Given the description of an element on the screen output the (x, y) to click on. 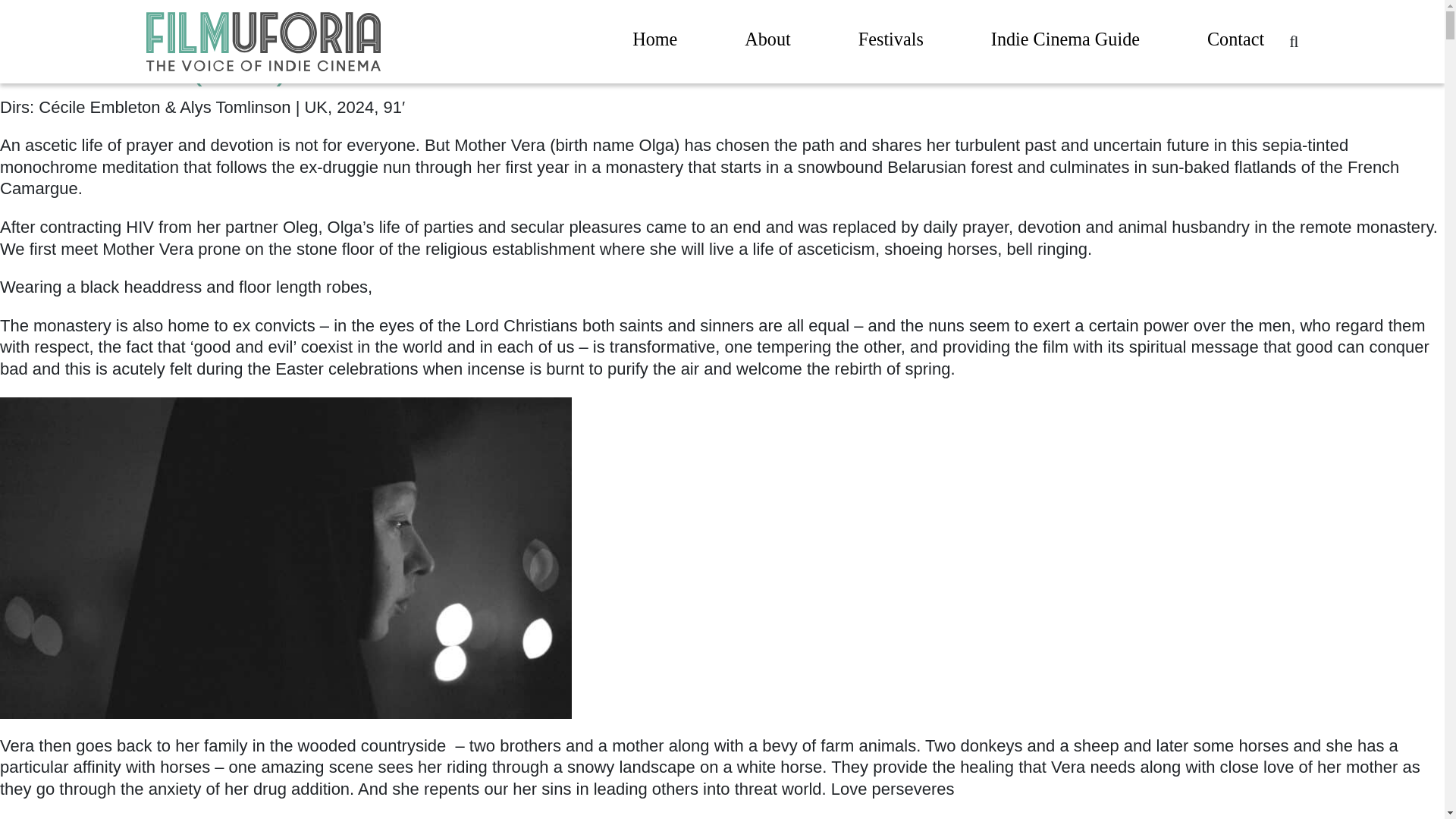
Indie Cinema Guide (1065, 42)
Home (654, 42)
Festivals (891, 42)
Contact (1235, 42)
About (767, 42)
